Given the description of an element on the screen output the (x, y) to click on. 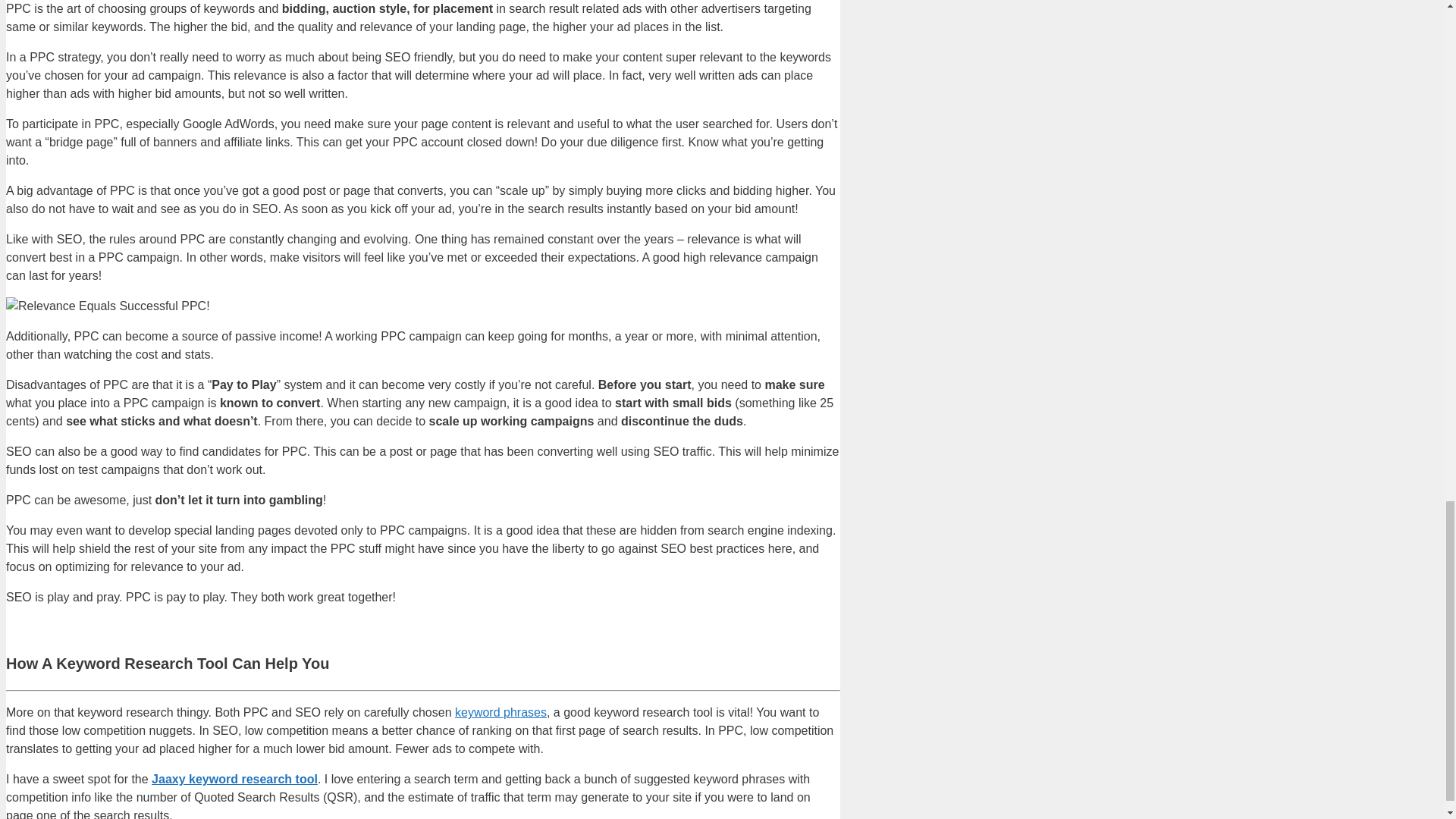
Jaaxy keyword research tool (234, 779)
keyword phrases (500, 712)
